Given the description of an element on the screen output the (x, y) to click on. 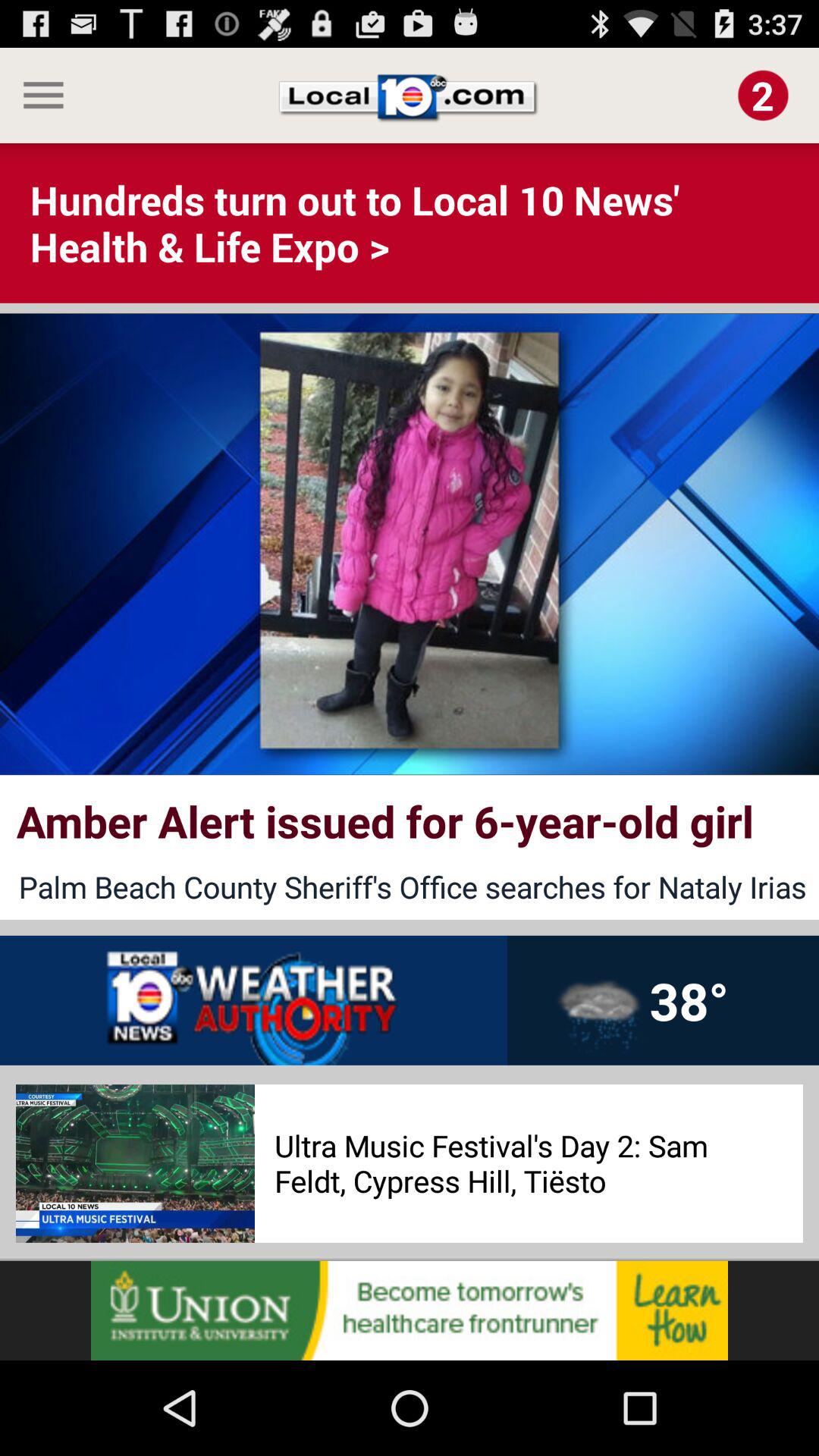
advertisement (409, 1310)
